Given the description of an element on the screen output the (x, y) to click on. 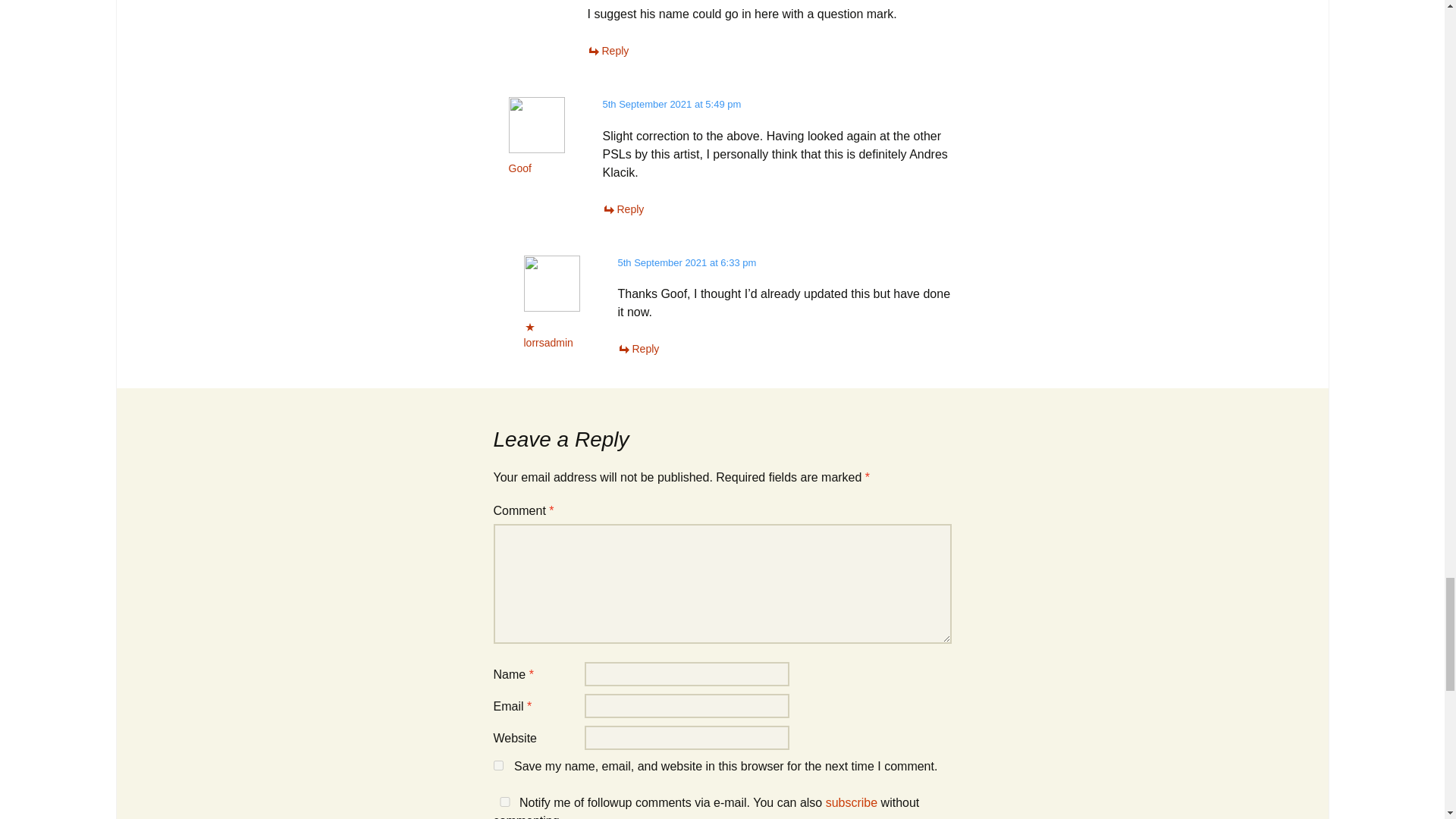
yes (497, 765)
yes (504, 801)
